Given the description of an element on the screen output the (x, y) to click on. 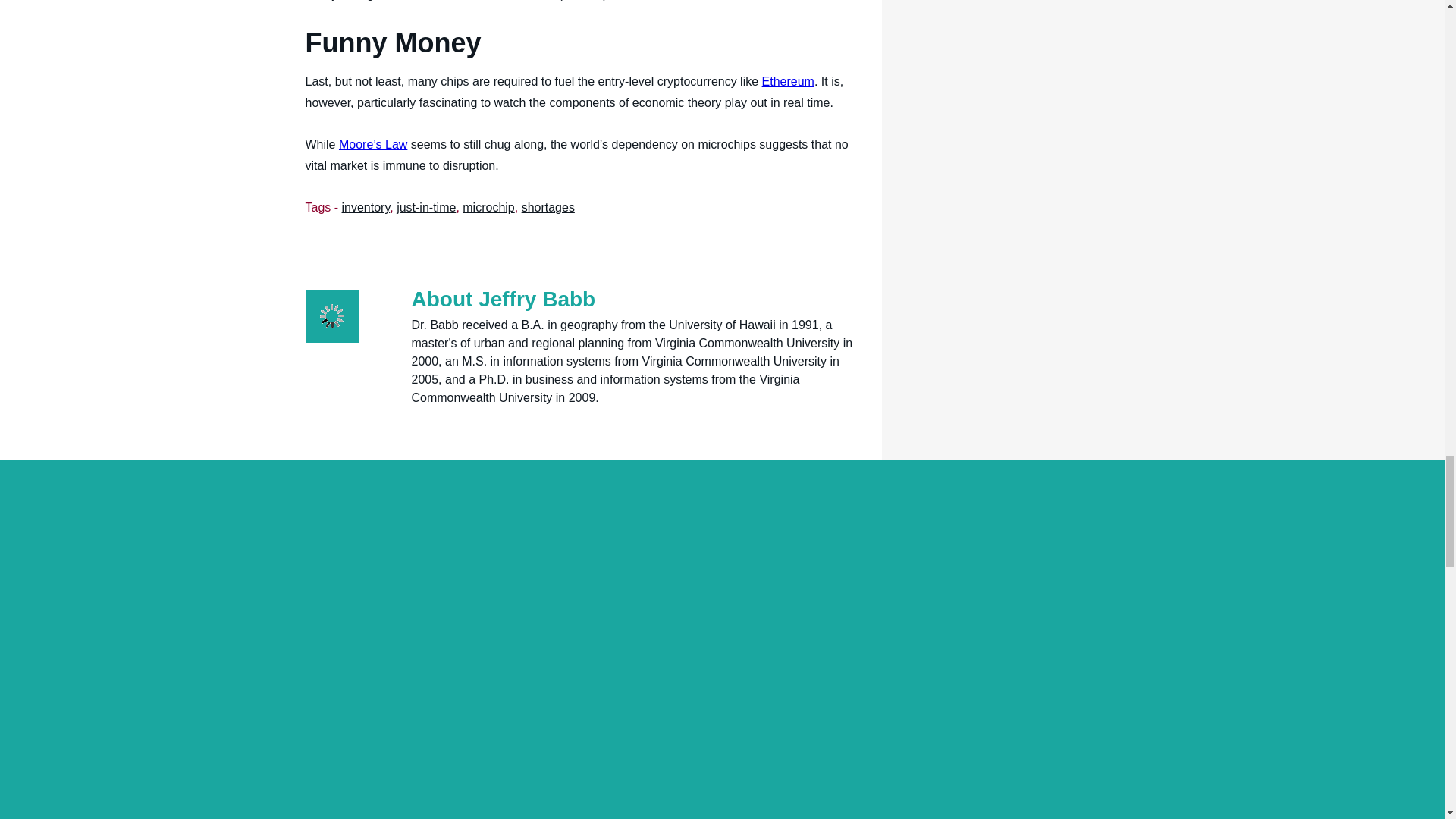
microchip (488, 206)
Ethereum (787, 81)
inventory (366, 206)
About Jeffry Babb (502, 299)
shortages (548, 206)
just-in-time (425, 206)
